Given the description of an element on the screen output the (x, y) to click on. 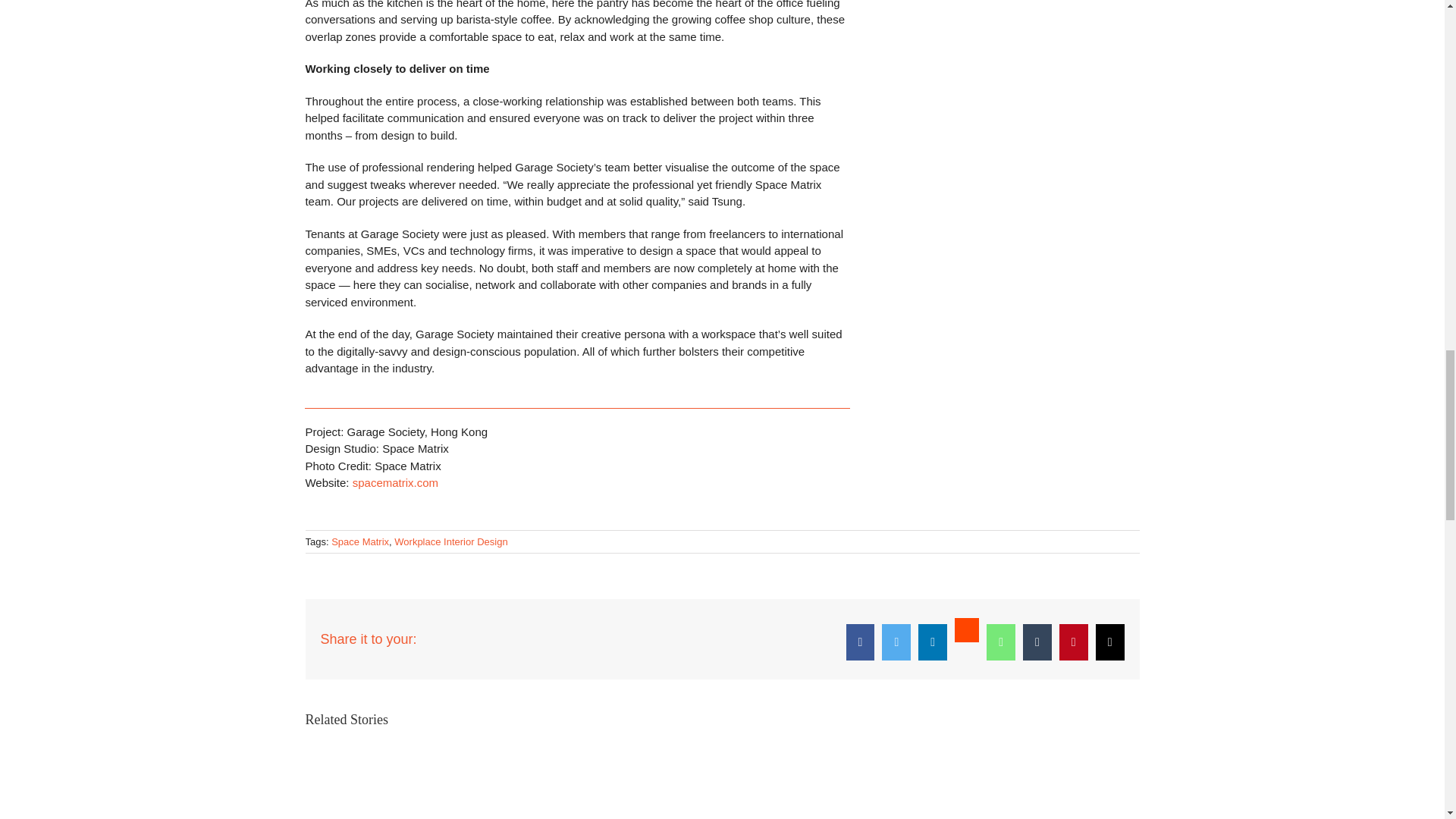
Workplace Interior Design (450, 541)
Twitter (896, 642)
Space Matrix (359, 541)
spacematrix.com (395, 481)
Facebook (860, 642)
